Given the description of an element on the screen output the (x, y) to click on. 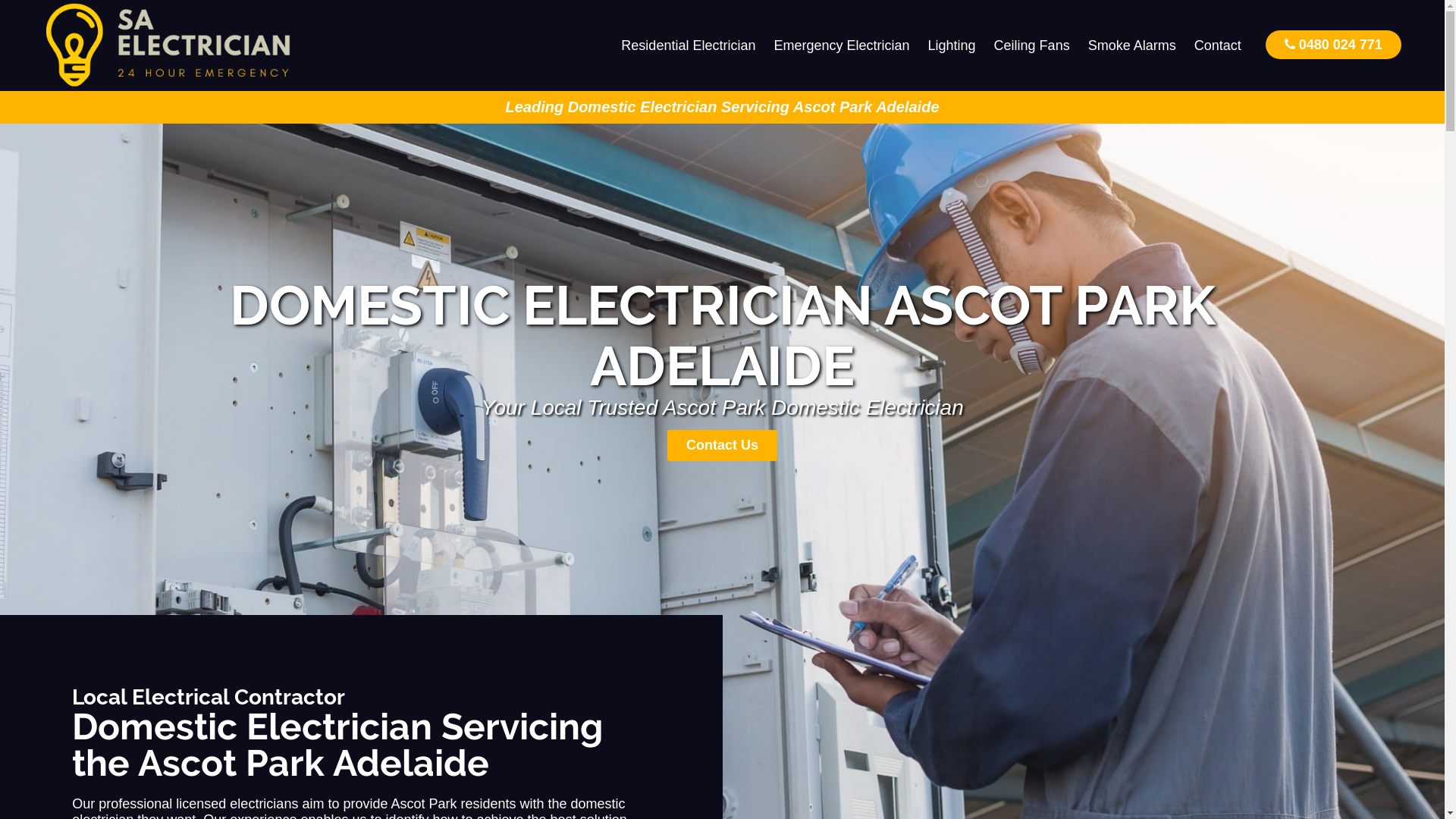
Contact Element type: text (1217, 45)
0480 024 771 Element type: text (1333, 44)
Ceiling Fans Element type: text (1032, 45)
Residential Electrician Element type: text (687, 45)
Emergency Electrician Element type: text (841, 45)
Smoke Alarms Element type: text (1132, 45)
Contact Us Element type: text (722, 445)
Lighting Element type: text (952, 45)
